Given the description of an element on the screen output the (x, y) to click on. 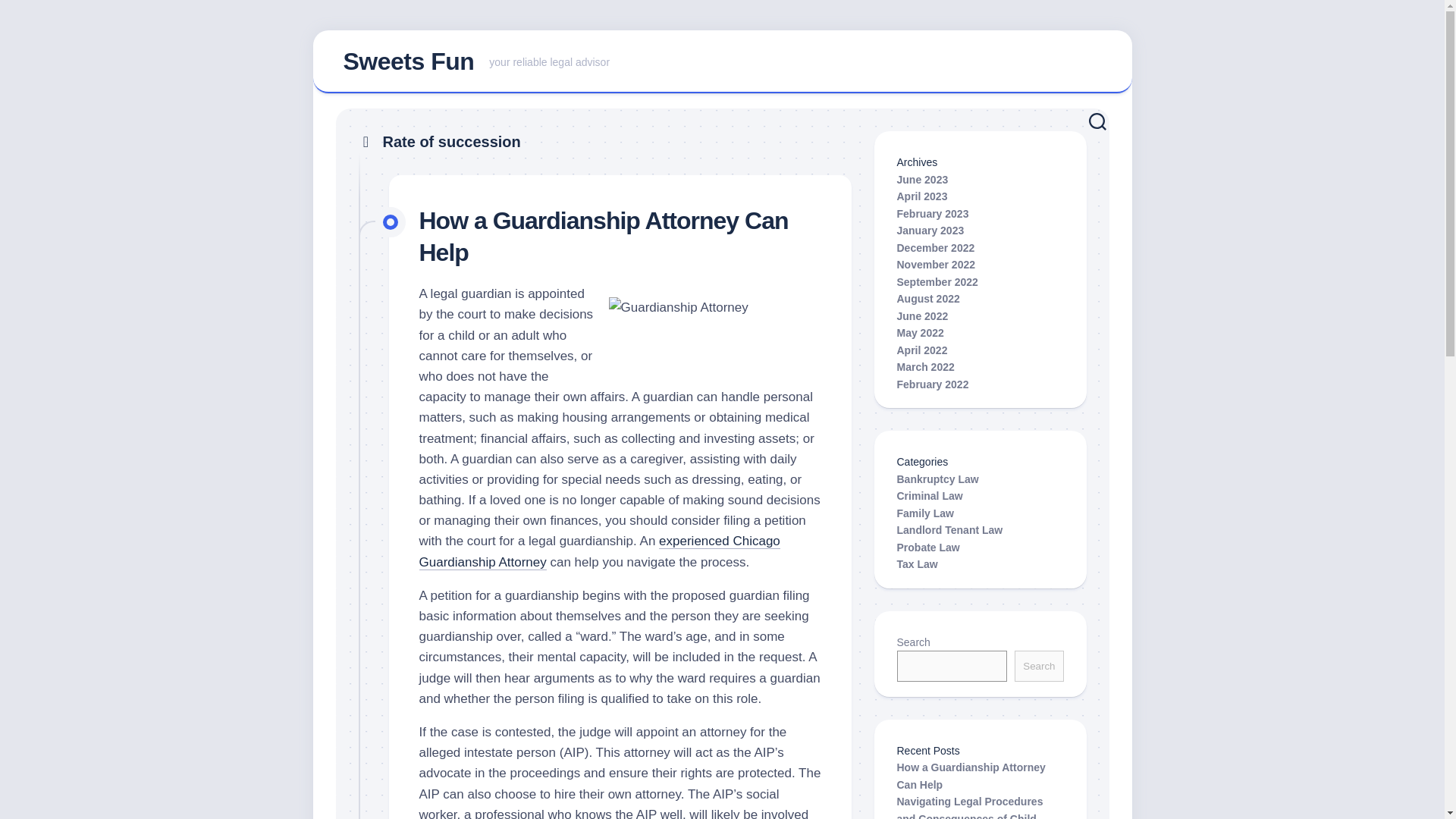
experienced Chicago Guardianship Attorney (598, 550)
Bankruptcy Law (722, 62)
May 2022 (937, 479)
April 2023 (919, 332)
September 2022 (921, 196)
How a Guardianship Attorney Can Help (936, 282)
January 2023 (970, 776)
June 2022 (929, 230)
Search (921, 315)
November 2022 (1038, 665)
Sweets Fun (935, 264)
June 2023 (408, 61)
Criminal Law (921, 178)
December 2022 (929, 495)
